Given the description of an element on the screen output the (x, y) to click on. 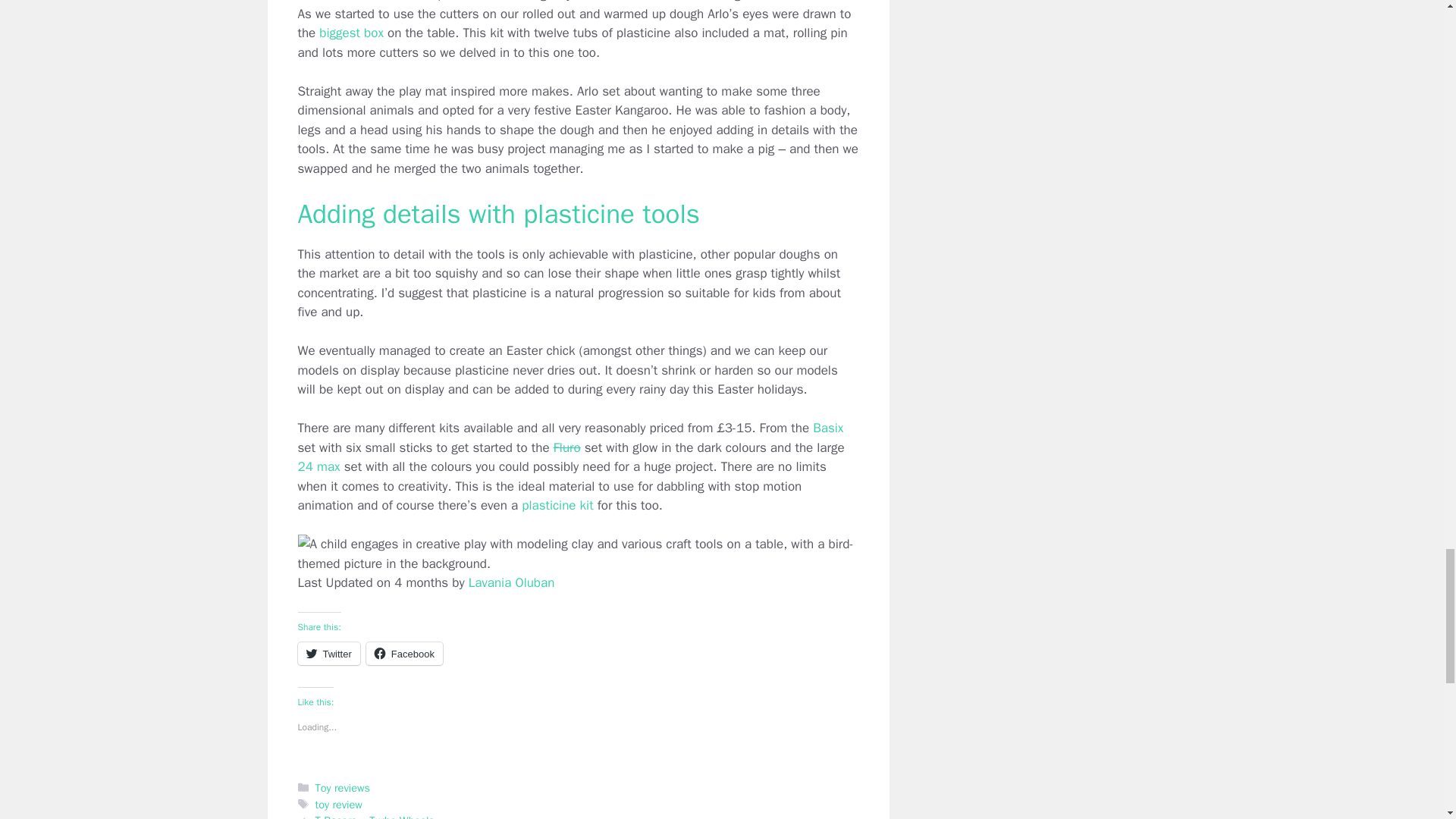
24 max (320, 466)
Toy reviews (342, 787)
Click to share on Twitter (328, 653)
toy review (338, 804)
Fluro (566, 447)
Lavania Oluban (511, 582)
Facebook (404, 653)
Basix (827, 427)
plasticine kit (556, 505)
biggest box (351, 32)
Click to share on Facebook (404, 653)
Twitter (328, 653)
